Given the description of an element on the screen output the (x, y) to click on. 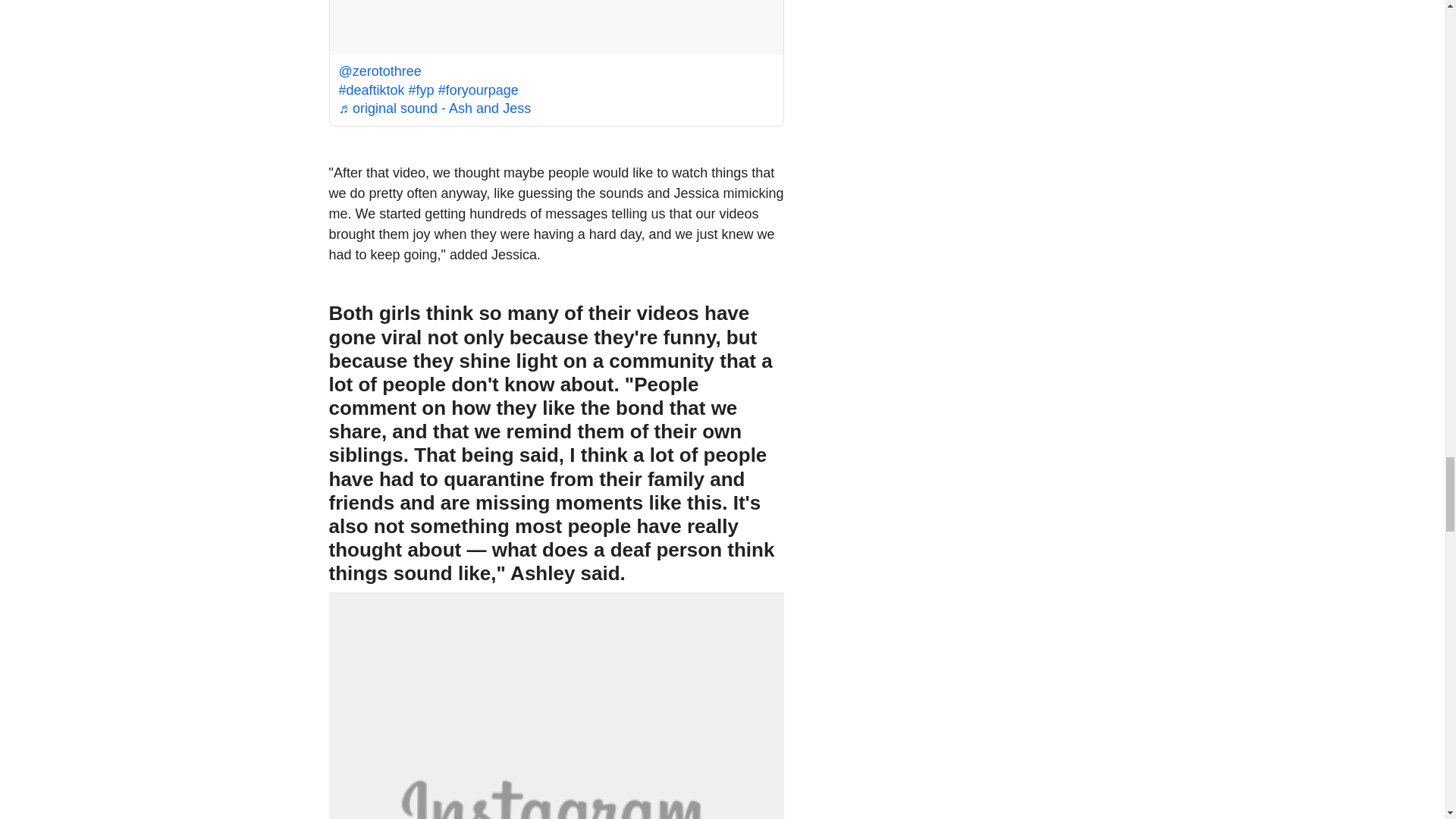
deaftiktok (370, 85)
fyp (421, 89)
foryourpage (478, 94)
